Given the description of an element on the screen output the (x, y) to click on. 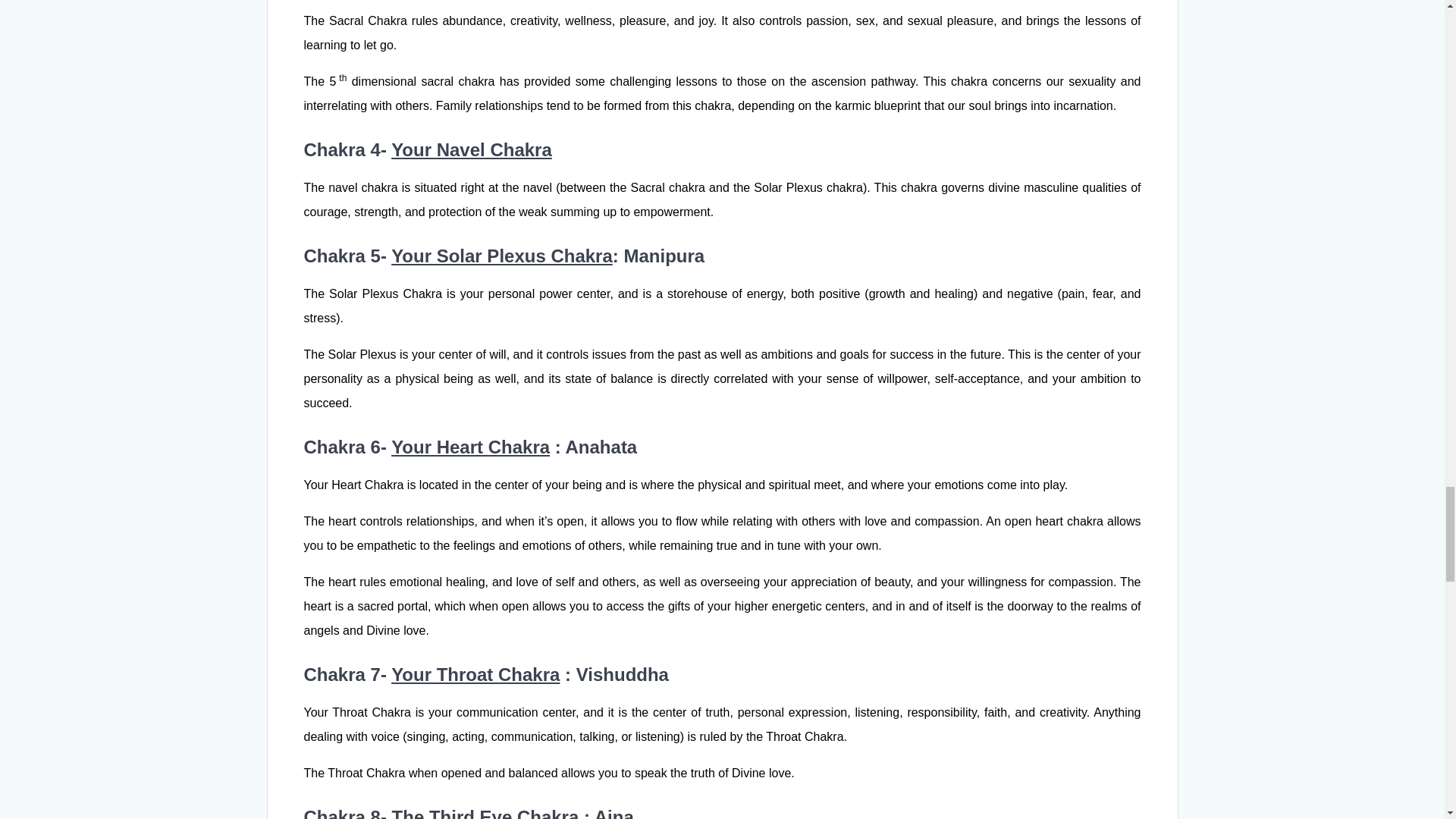
Your Throat Chakra (475, 674)
Your Navel Chakra (471, 149)
Your Heart Chakra (470, 446)
Your Solar Plexus Chakra (501, 255)
The Third Eye Chakra (485, 812)
